Given the description of an element on the screen output the (x, y) to click on. 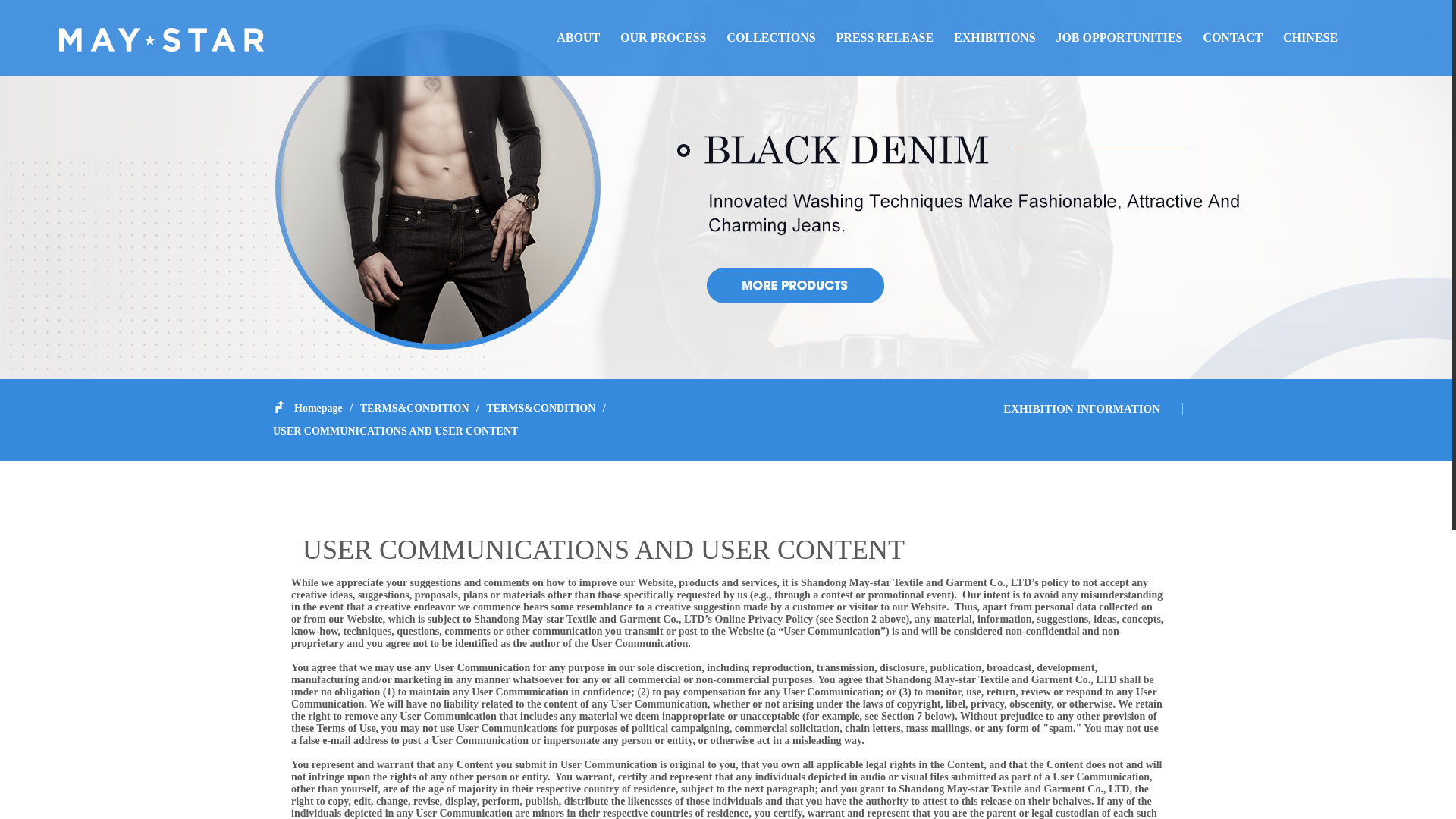
PRESS RELEASE (884, 37)
CHINESE (1310, 37)
ABOUT (577, 37)
EXHIBITIONS (994, 37)
EXHIBITION INFORMATION (1080, 408)
JOB OPPORTUNITIES (1118, 37)
COLLECTIONS (770, 37)
CONTACT (1232, 37)
OUR PROCESS (663, 37)
EXHIBITION INFORMATION (1080, 408)
